Given the description of an element on the screen output the (x, y) to click on. 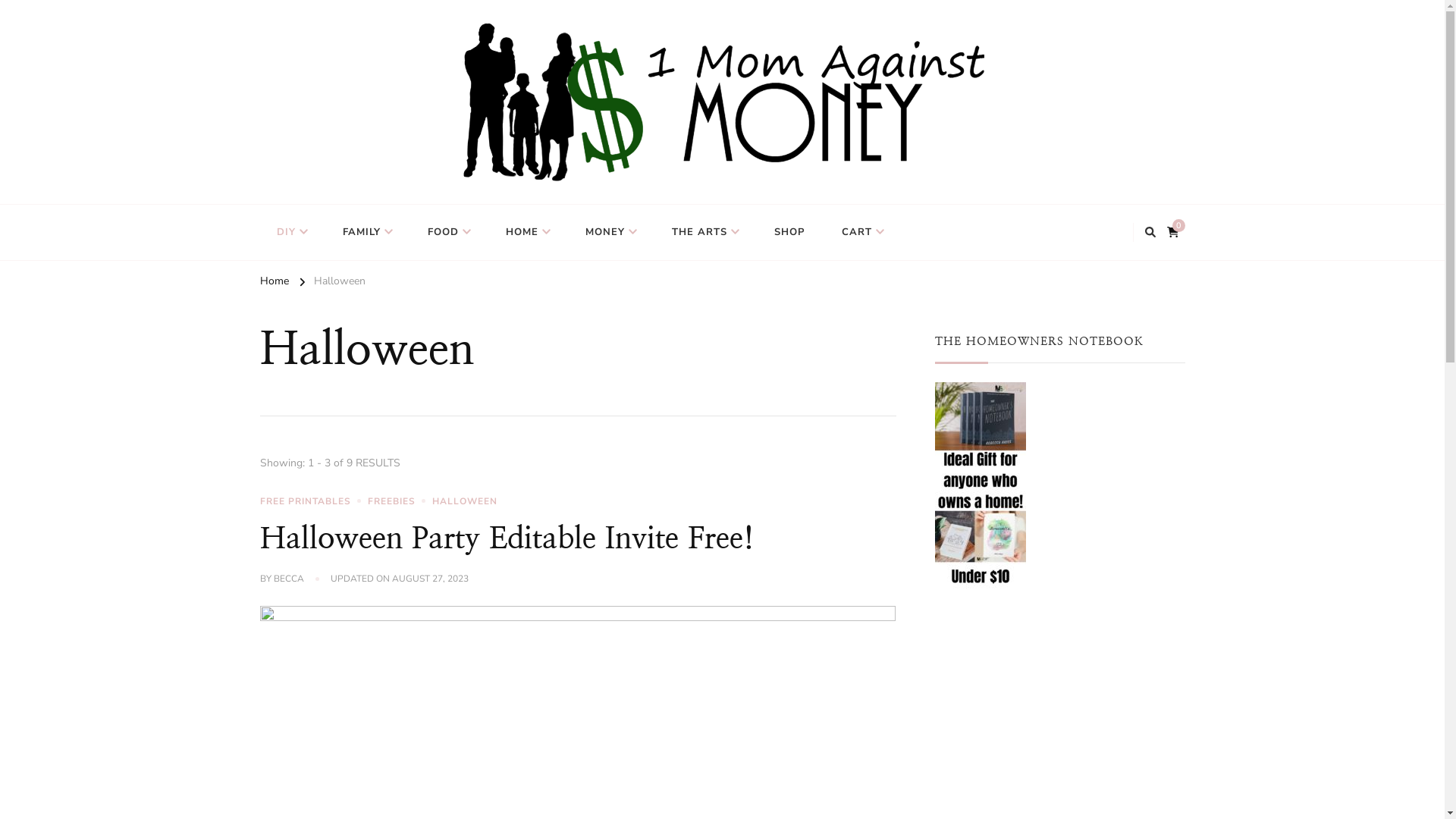
FREEBIES Element type: text (398, 501)
FREE PRINTABLES Element type: text (312, 501)
SHOP Element type: text (788, 232)
AUGUST 27, 2023 Element type: text (430, 579)
Halloween Party Editable Invite Free! Element type: text (507, 537)
BECCA Element type: text (288, 579)
FAMILY Element type: text (366, 232)
THE ARTS Element type: text (704, 232)
Home Element type: text (273, 283)
FOOD Element type: text (448, 232)
HOME Element type: text (526, 232)
DIY Element type: text (290, 232)
CART Element type: text (861, 232)
HALLOWEEN Element type: text (464, 501)
0 Element type: text (1176, 229)
MONEY Element type: text (609, 232)
Halloween Element type: text (339, 283)
